Given the description of an element on the screen output the (x, y) to click on. 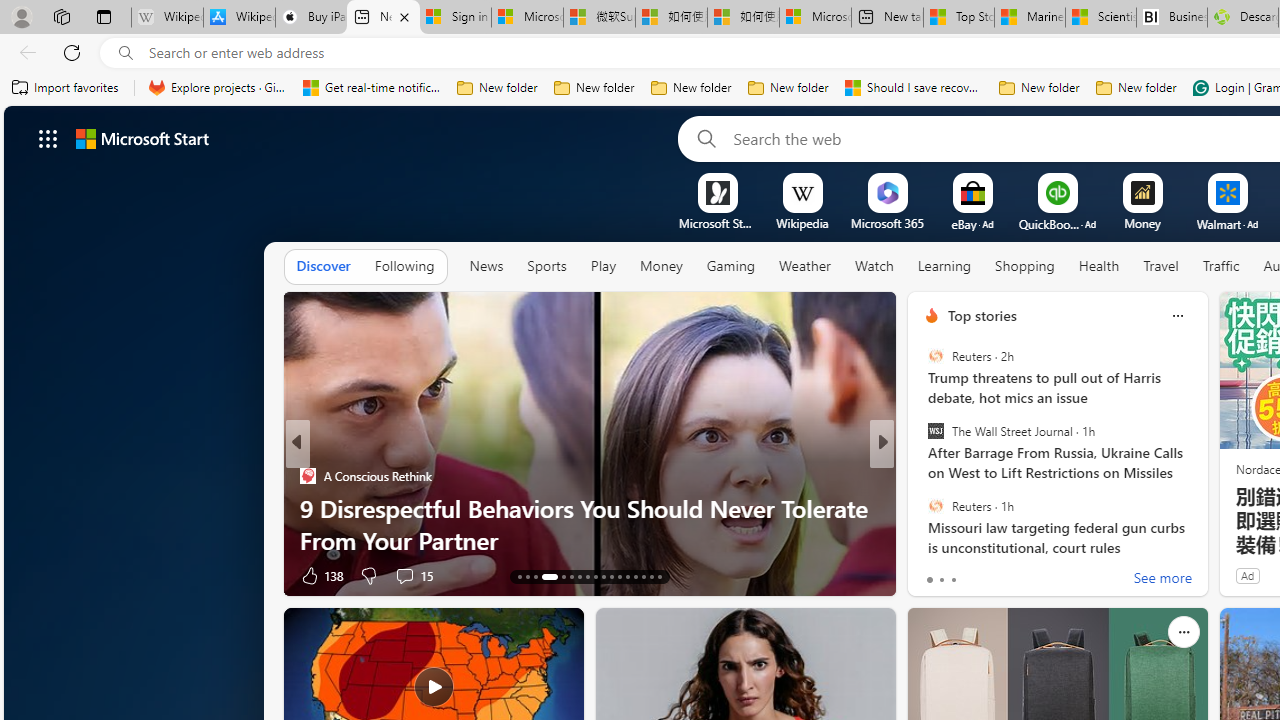
Should I save recovered Word documents? - Microsoft Support (913, 88)
New folder (1136, 88)
AutomationID: tab-19 (578, 576)
View comments 1k Comment (1013, 575)
516 Like (936, 574)
7 Like (930, 574)
AutomationID: tab-18 (571, 576)
